Given the description of an element on the screen output the (x, y) to click on. 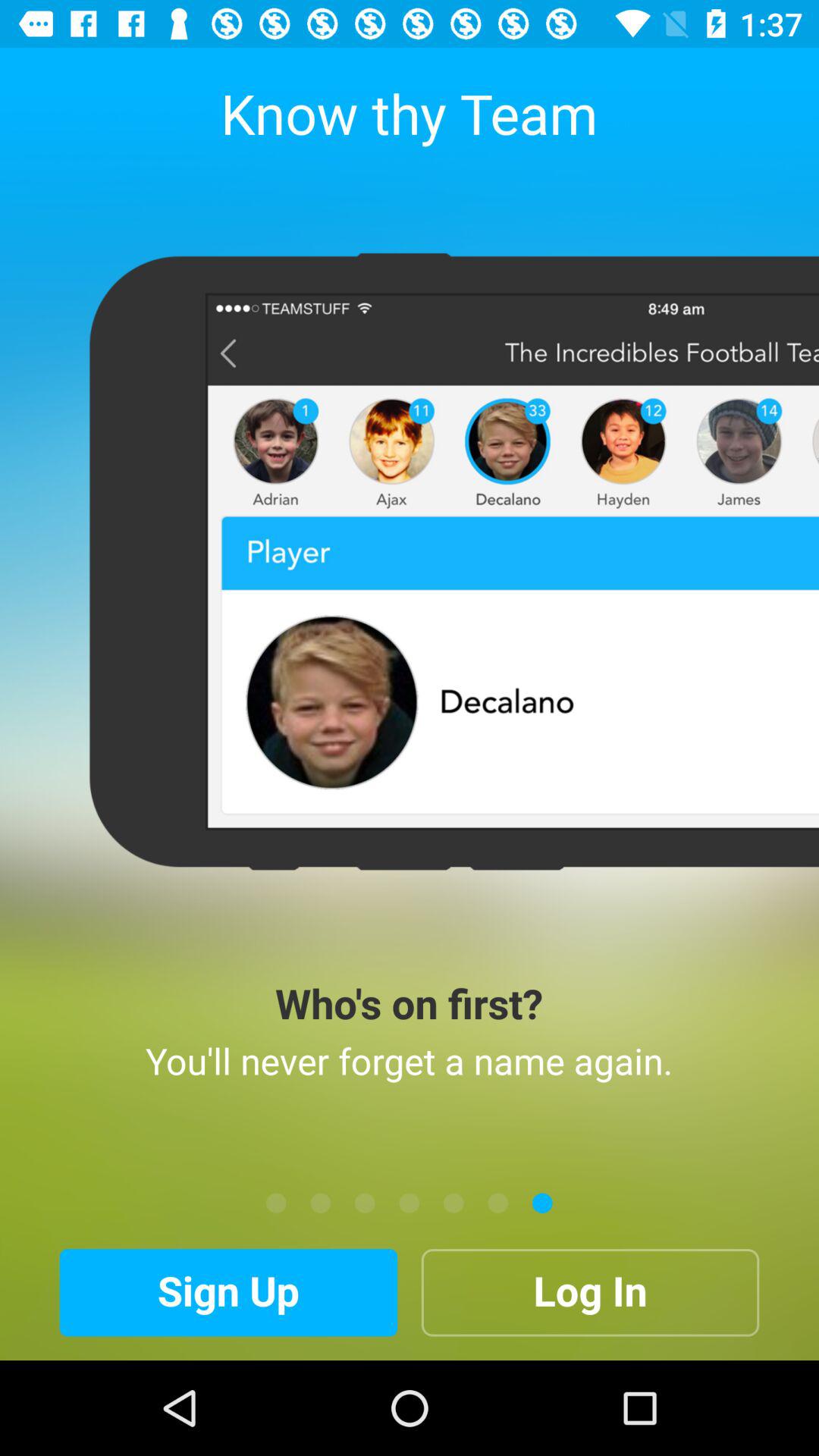
view first page (276, 1203)
